Given the description of an element on the screen output the (x, y) to click on. 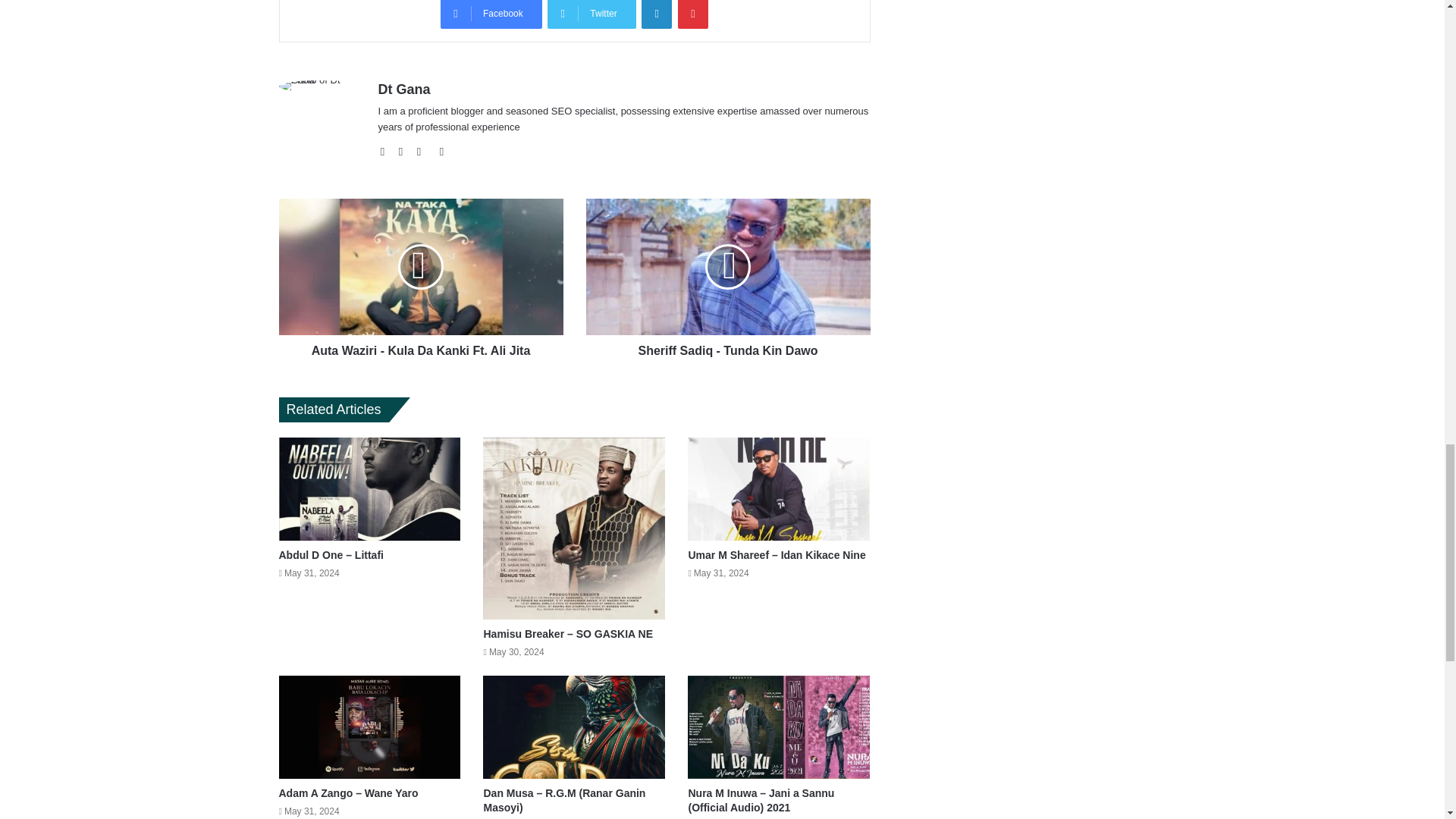
Instagram (440, 151)
Facebook (491, 14)
YouTube (422, 151)
Pinterest (692, 14)
Auta Waziri - Kula Da Kanki Ft. Ali Jita (421, 346)
LinkedIn (656, 14)
Twitter (590, 14)
Dt Gana (403, 89)
Facebook (404, 151)
Facebook (491, 14)
Website (386, 151)
